Given the description of an element on the screen output the (x, y) to click on. 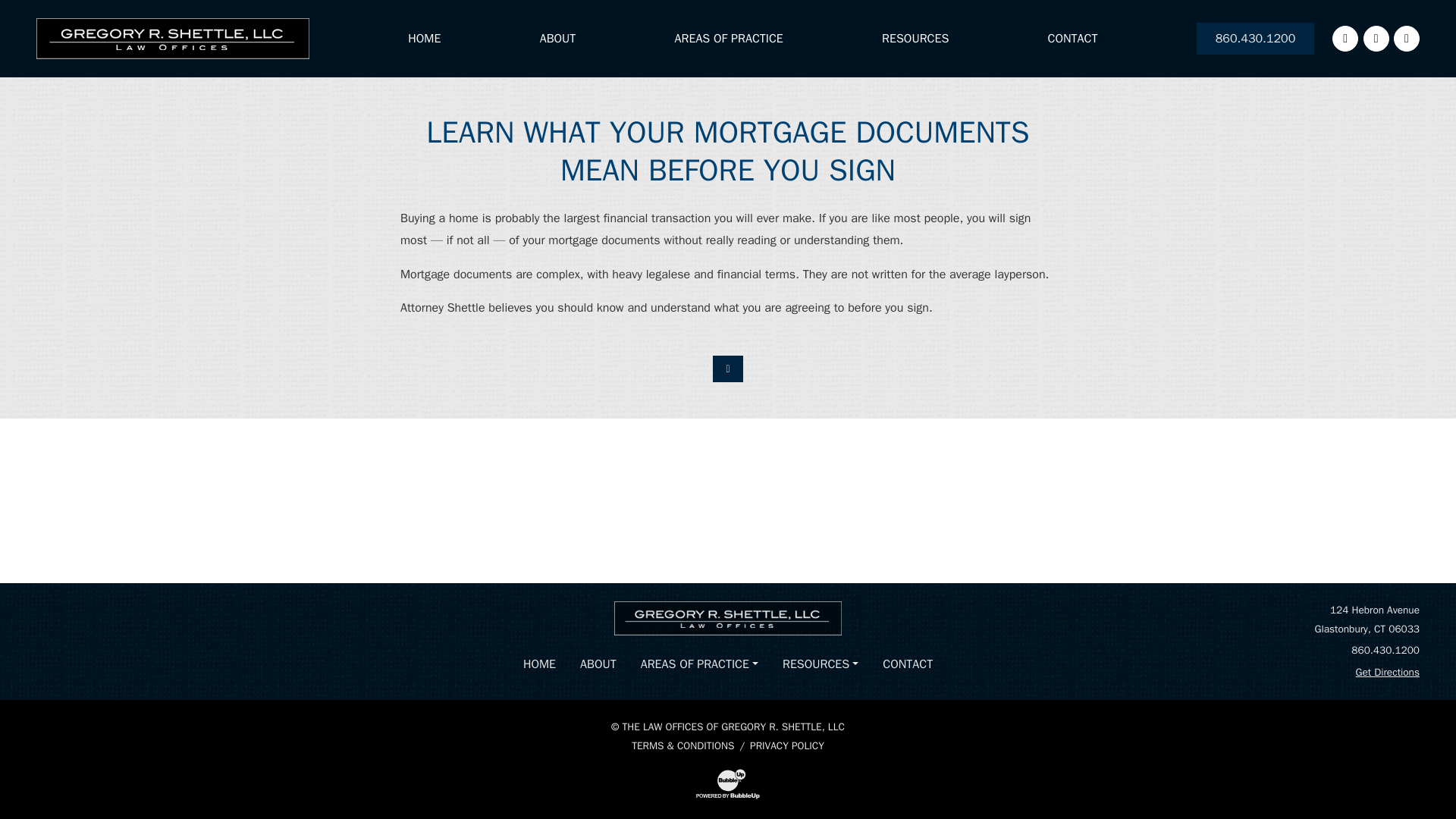
RESOURCES (820, 664)
ABOUT (597, 664)
CONTACT (907, 664)
ABOUT (558, 39)
AREAS OF PRACTICE (699, 664)
RESOURCES (915, 39)
X (1406, 38)
Instagram (1375, 38)
HOME (539, 664)
860.430.1200 (1385, 649)
